Given the description of an element on the screen output the (x, y) to click on. 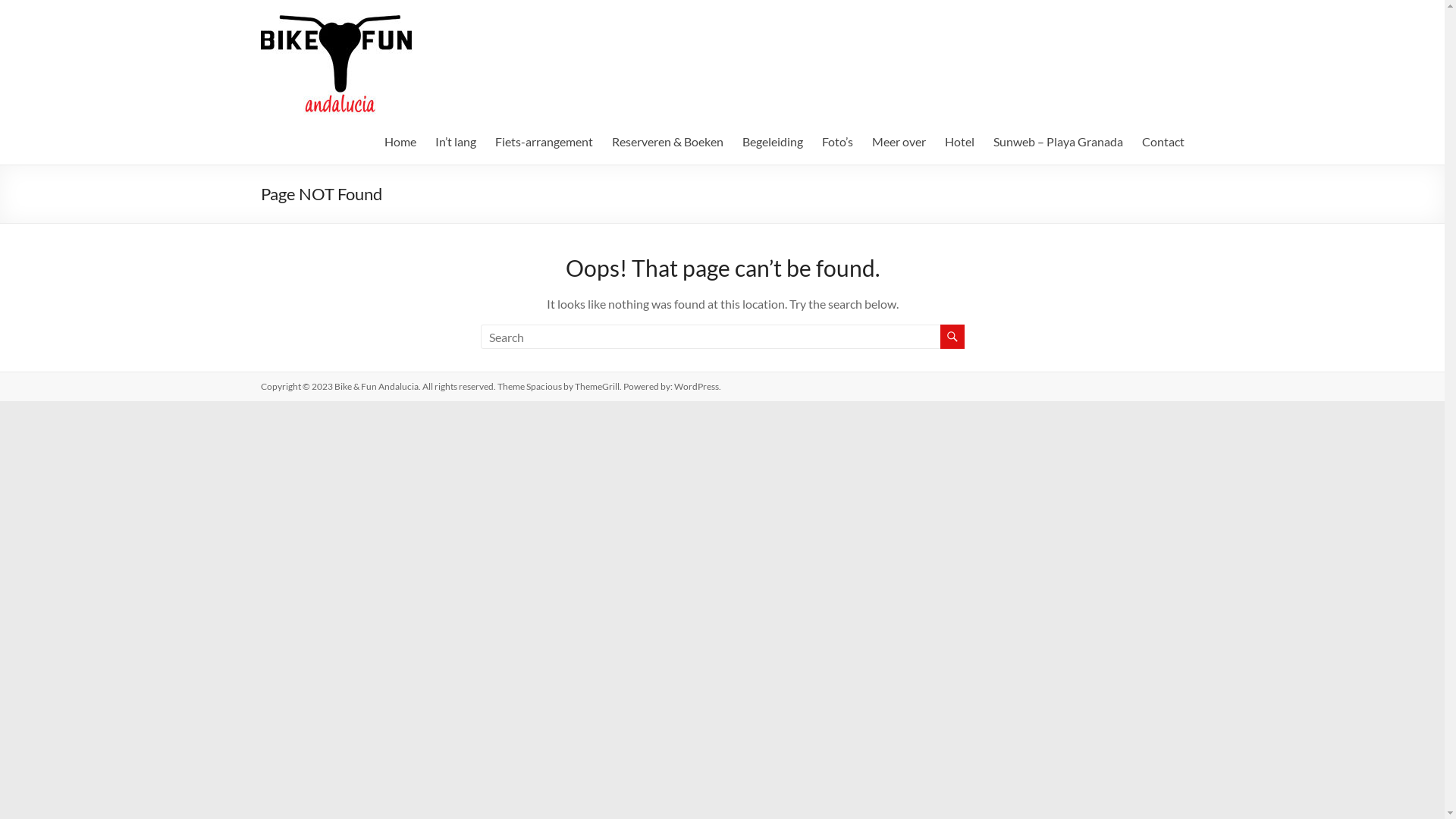
Contact Element type: text (1163, 141)
Meer over Element type: text (898, 141)
Reserveren & Boeken Element type: text (666, 141)
Home Element type: text (399, 141)
Hotel Element type: text (959, 141)
WordPress Element type: text (695, 386)
Begeleiding Element type: text (771, 141)
Fiets-arrangement Element type: text (543, 141)
Spacious Element type: text (543, 386)
Bike & Fun Andalucia Element type: text (317, 60)
Bike & Fun Andalucia Element type: text (375, 386)
